Given the description of an element on the screen output the (x, y) to click on. 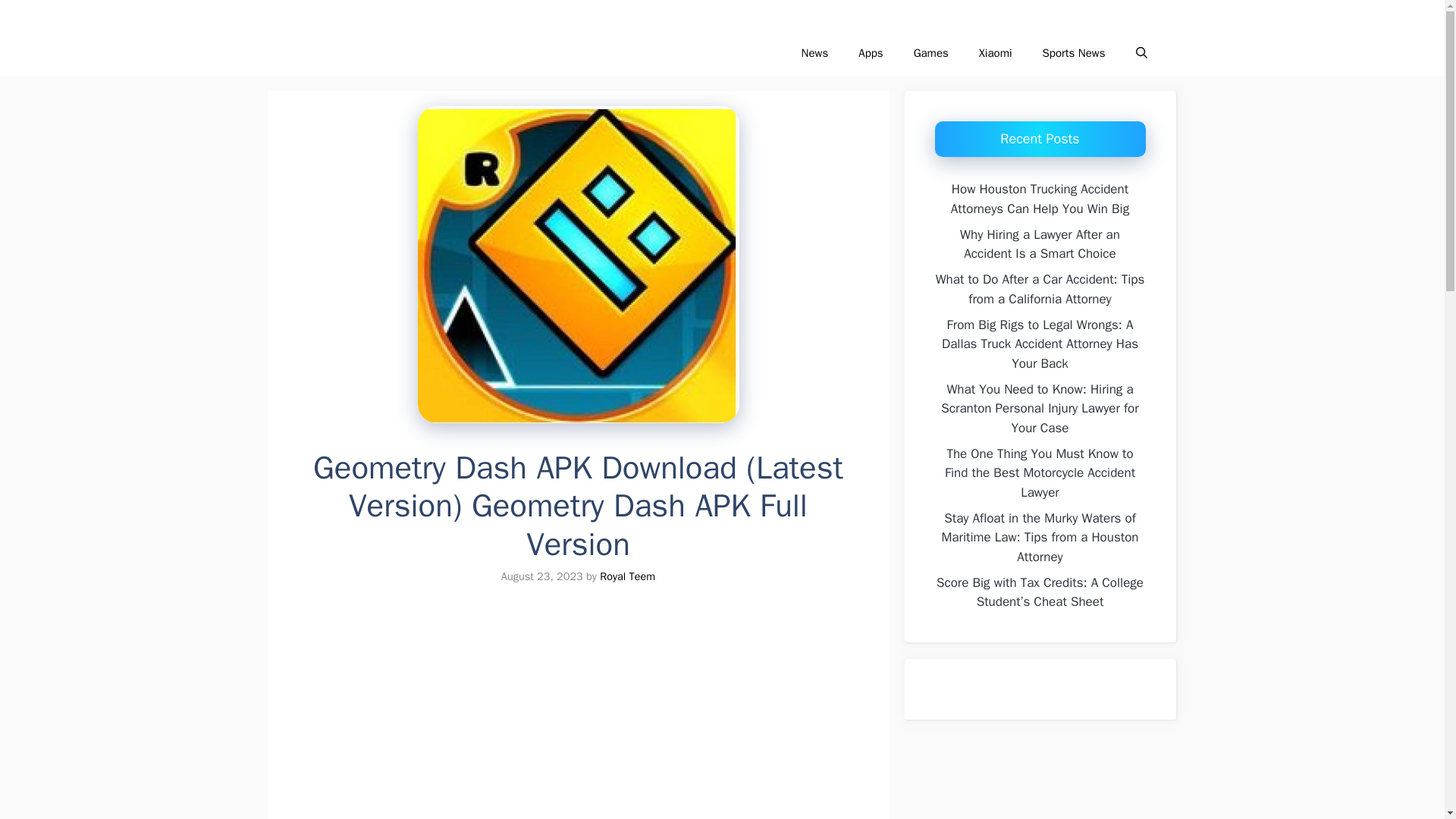
Sports News (1074, 53)
Advertisement (591, 714)
Royal Teem (627, 576)
How Houston Trucking Accident Attorneys Can Help You Win Big (1039, 198)
News (815, 53)
Games (930, 53)
Why Hiring a Lawyer After an Accident Is a Smart Choice (1039, 243)
